Given the description of an element on the screen output the (x, y) to click on. 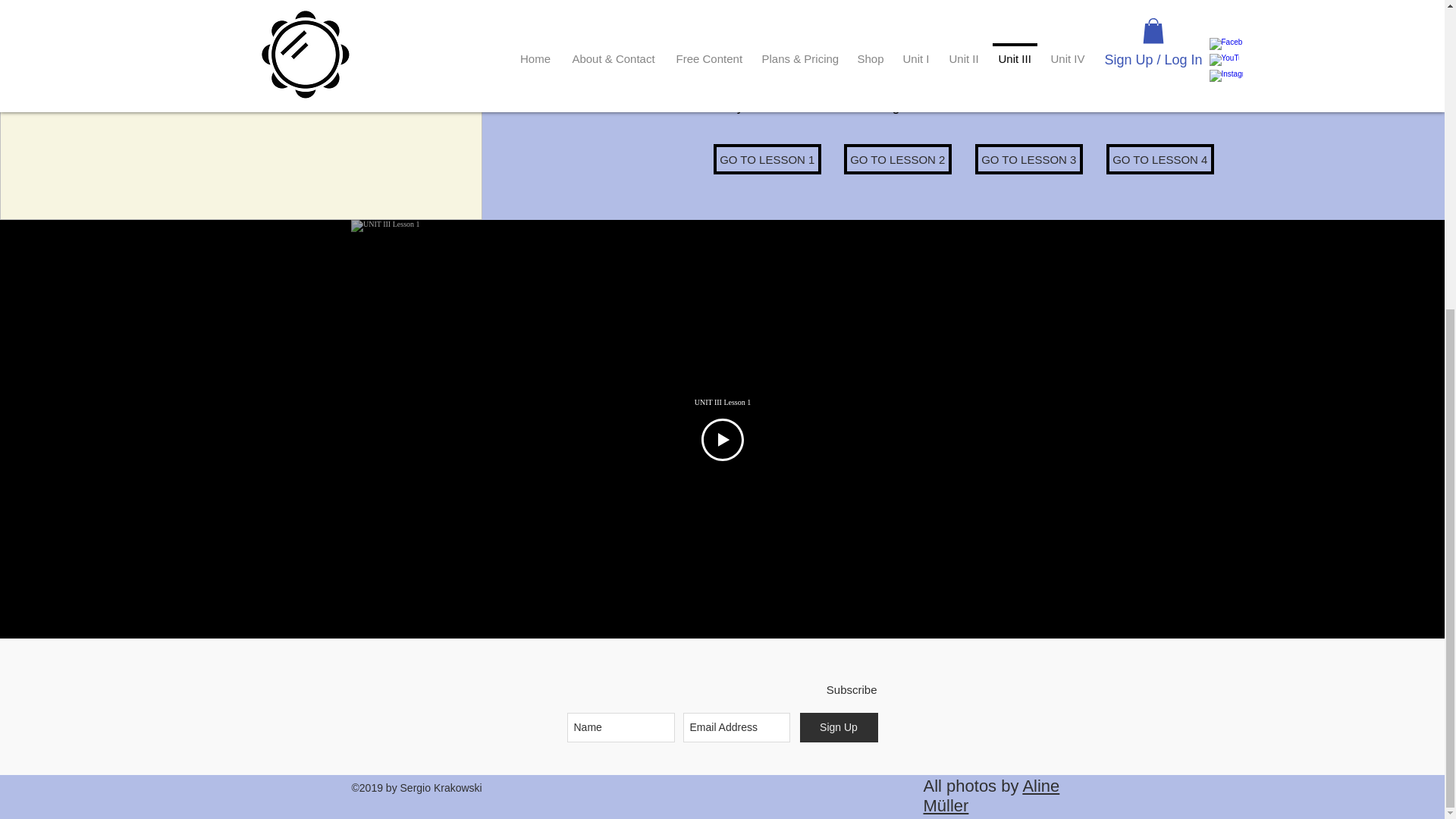
GO TO LESSON 4 (1160, 159)
GO TO LESSON 2 (898, 159)
UNIT III Lesson 1 (721, 401)
GO TO LESSON 1 (767, 159)
GO TO LESSON 3 (1029, 159)
